Given the description of an element on the screen output the (x, y) to click on. 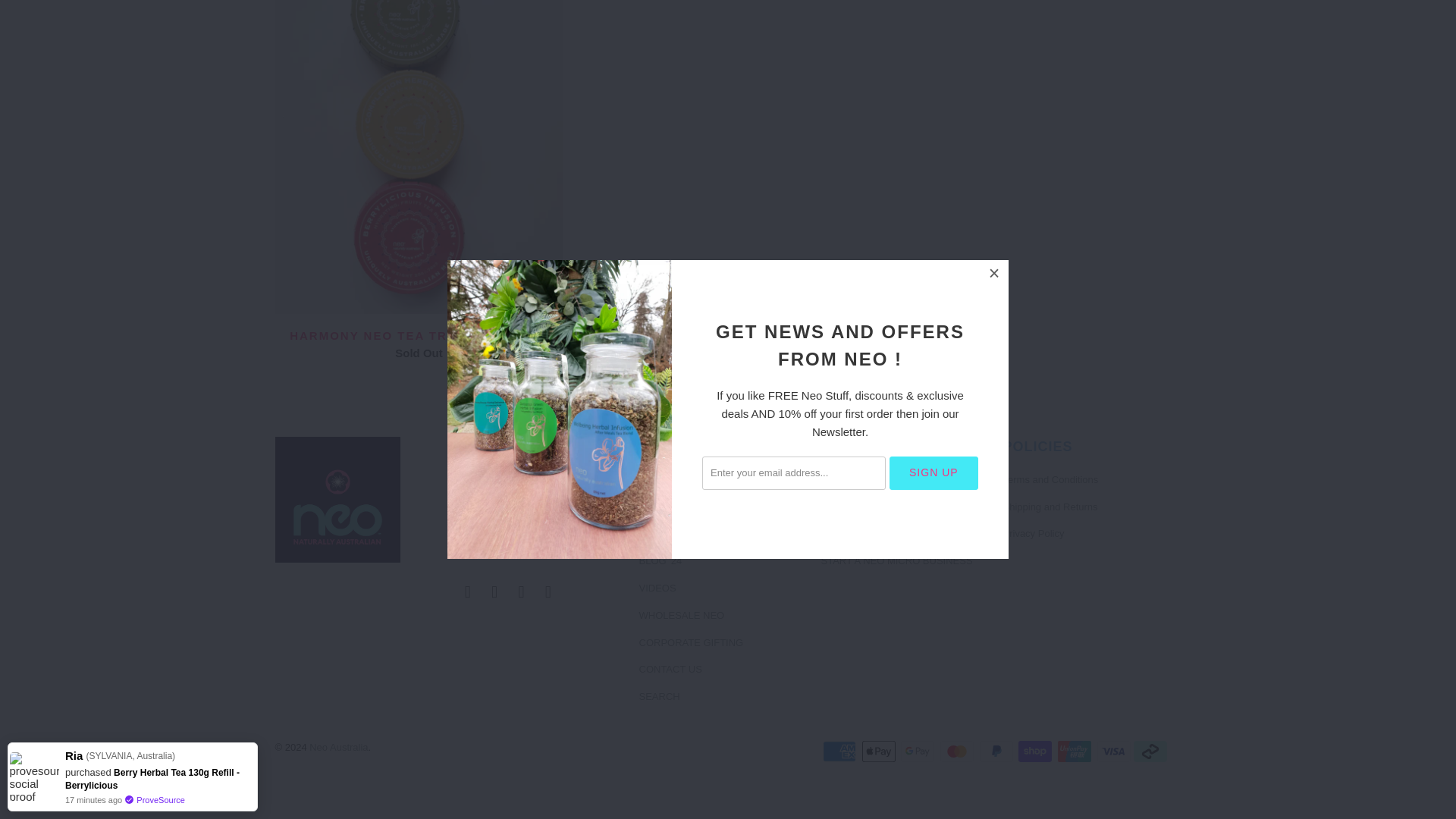
Shop Pay (1035, 751)
Mastercard (958, 751)
Apple Pay (879, 751)
American Express (840, 751)
Google Pay (919, 751)
Visa (1114, 751)
PayPal (997, 751)
Union Pay (1076, 751)
